Given the description of an element on the screen output the (x, y) to click on. 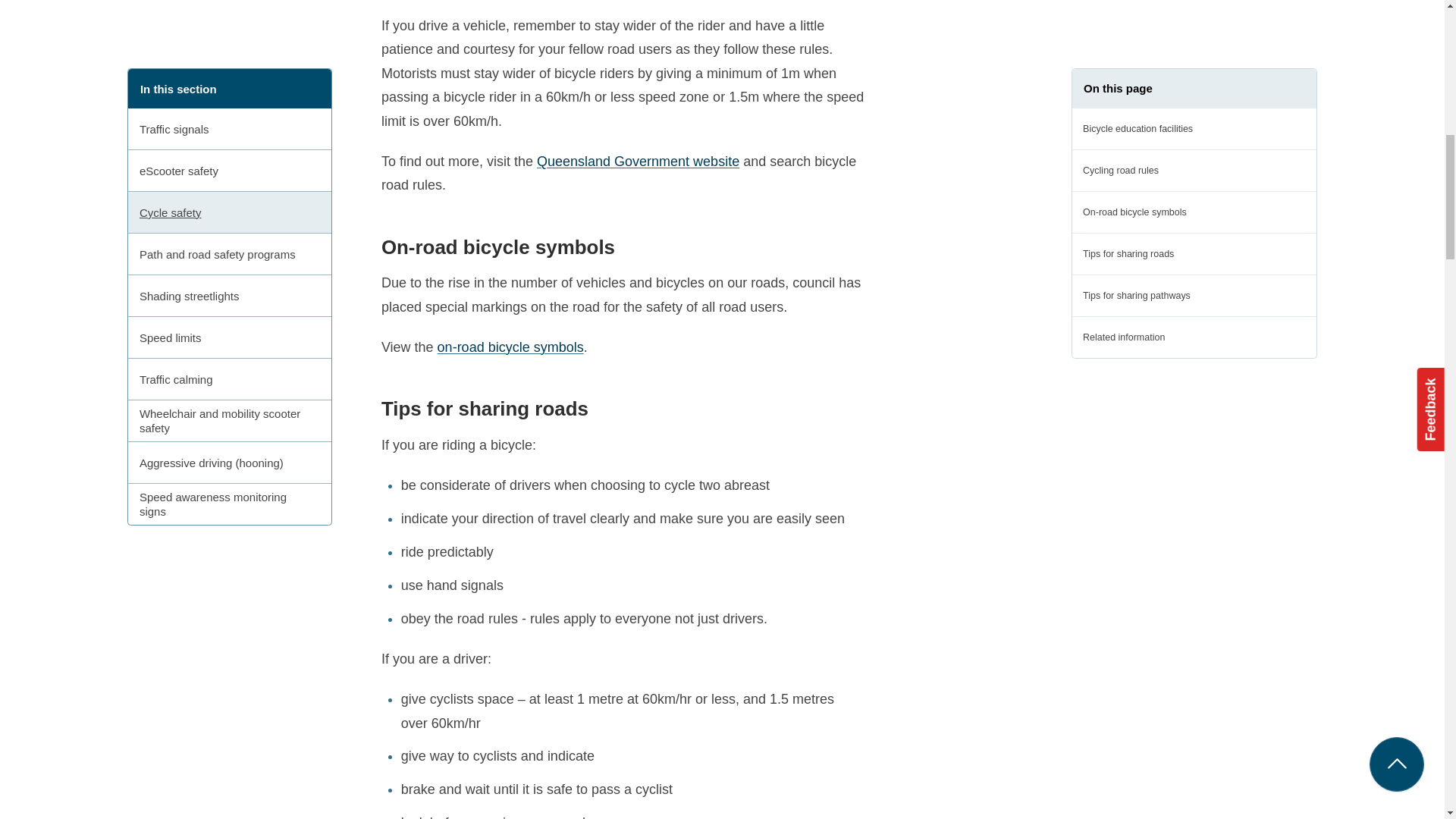
Go back to top (1396, 212)
Back to top (1396, 212)
